Given the description of an element on the screen output the (x, y) to click on. 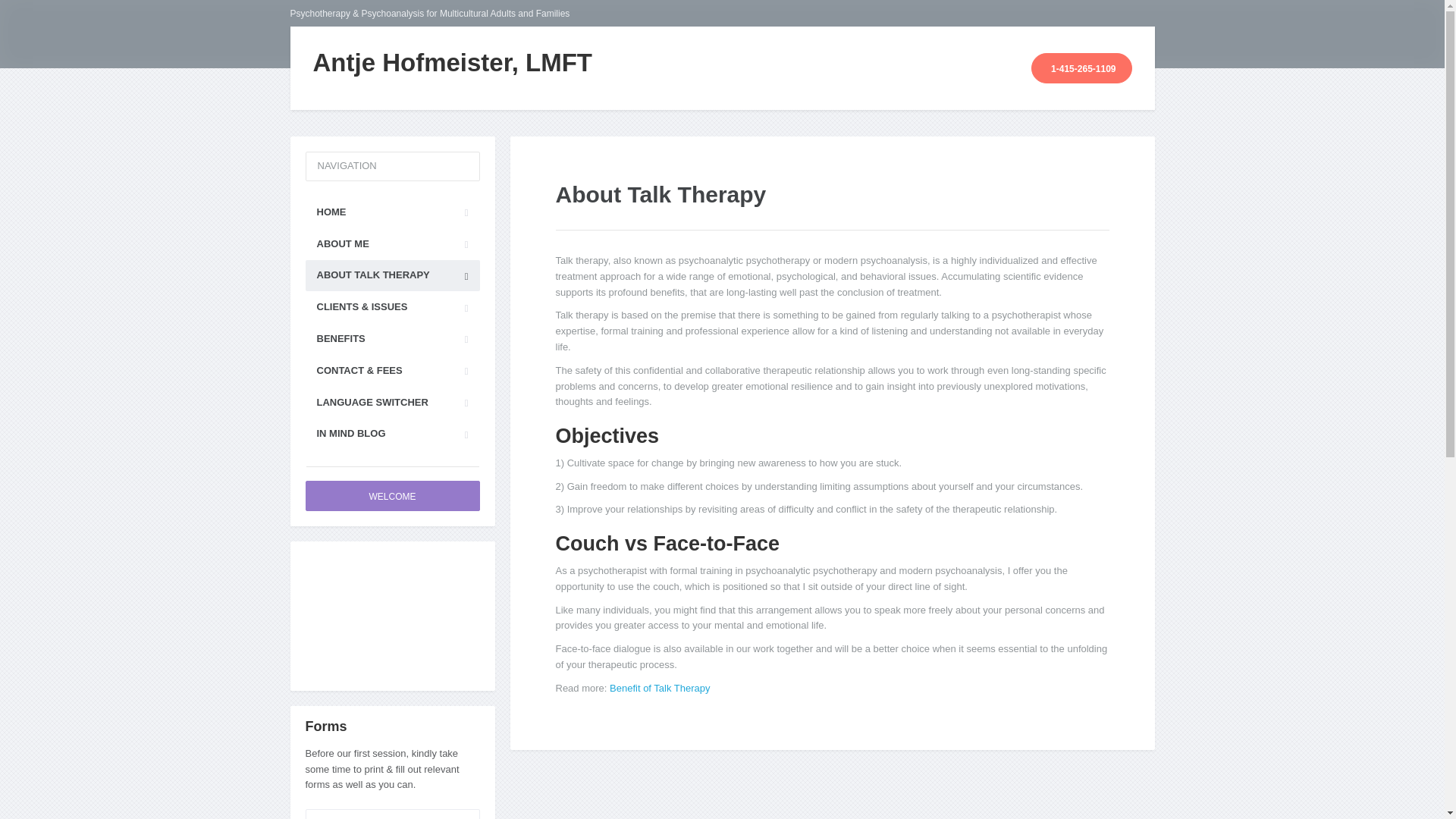
ABOUT ME (391, 244)
LANGUAGE SWITCHER (391, 402)
Benefit of Talk Therapy (660, 687)
WELCOME (391, 495)
Financial Agreement (391, 814)
ABOUT TALK THERAPY (391, 275)
1-415-265-1109 (1080, 68)
BENEFITS (391, 338)
HOME (391, 212)
Benefit (660, 687)
